Given the description of an element on the screen output the (x, y) to click on. 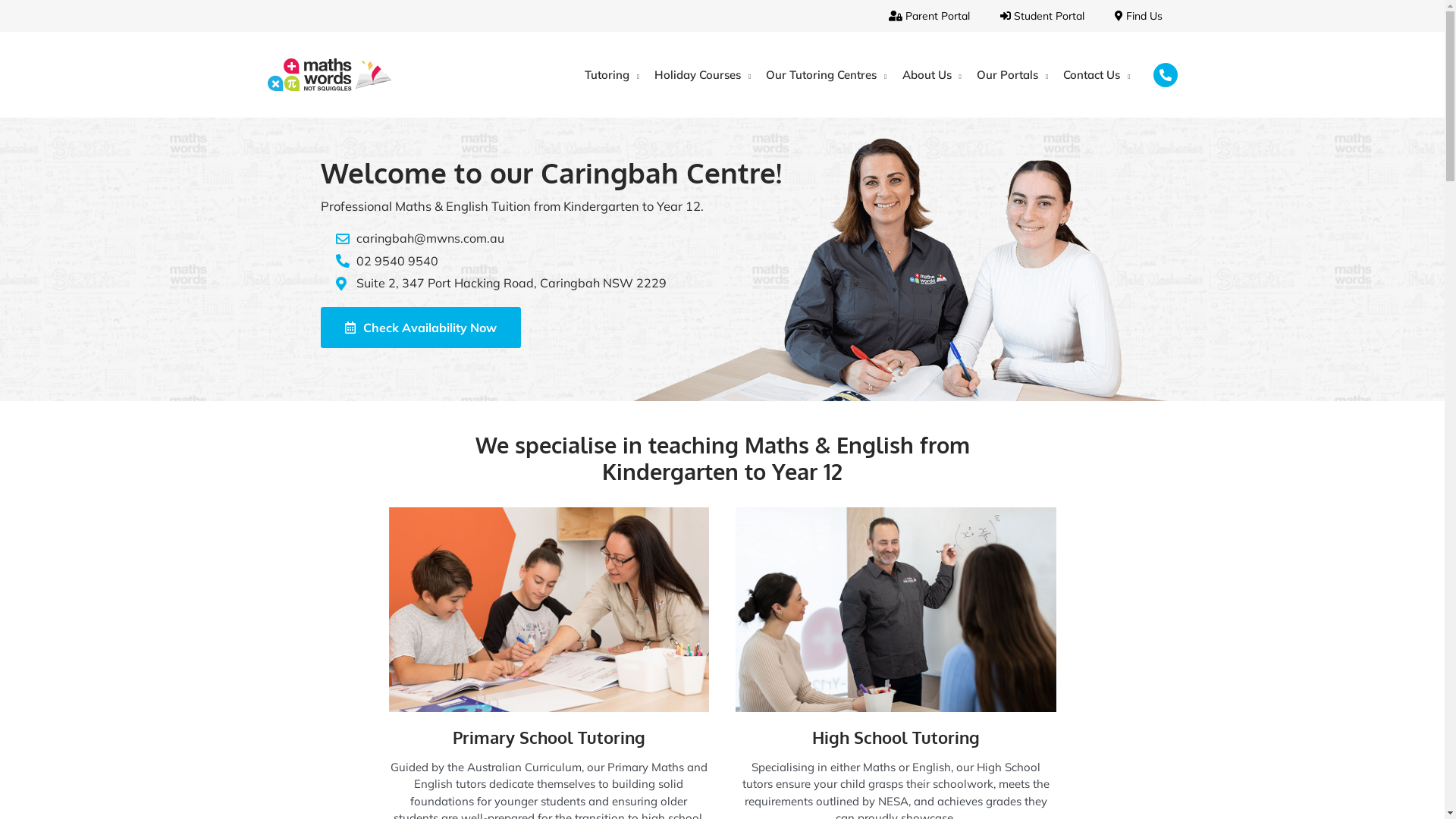
Suite 2, 347 Port Hacking Road, Caringbah NSW 2229 Element type: text (752, 282)
Contact Us Element type: text (1096, 74)
Holiday Courses Element type: text (702, 74)
Check Availability Now Element type: text (420, 327)
Tutoring Element type: text (611, 74)
caringbah@mwns.com.au Element type: text (752, 238)
Student Portal Element type: text (1041, 15)
Find Us Element type: text (1138, 15)
About Us Element type: text (931, 74)
Our Portals Element type: text (1012, 74)
Parent Portal Element type: text (929, 15)
Our Tutoring Centres Element type: text (826, 74)
02 9540 9540 Element type: text (752, 260)
